Given the description of an element on the screen output the (x, y) to click on. 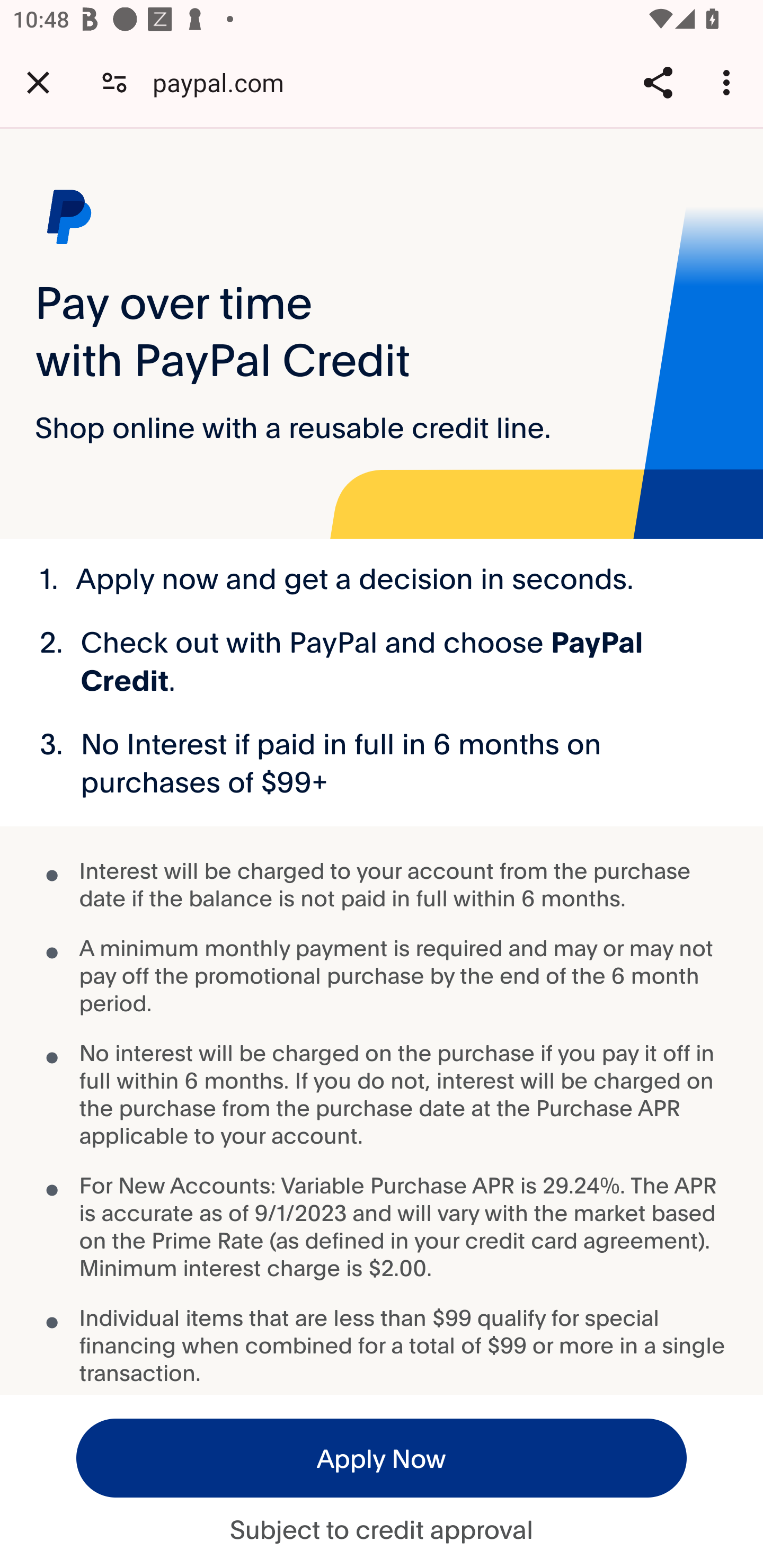
Close tab (38, 82)
Share (657, 82)
Customize and control Google Chrome (729, 82)
Connection is secure (114, 81)
paypal.com (224, 81)
Apply Now (381, 1458)
